Given the description of an element on the screen output the (x, y) to click on. 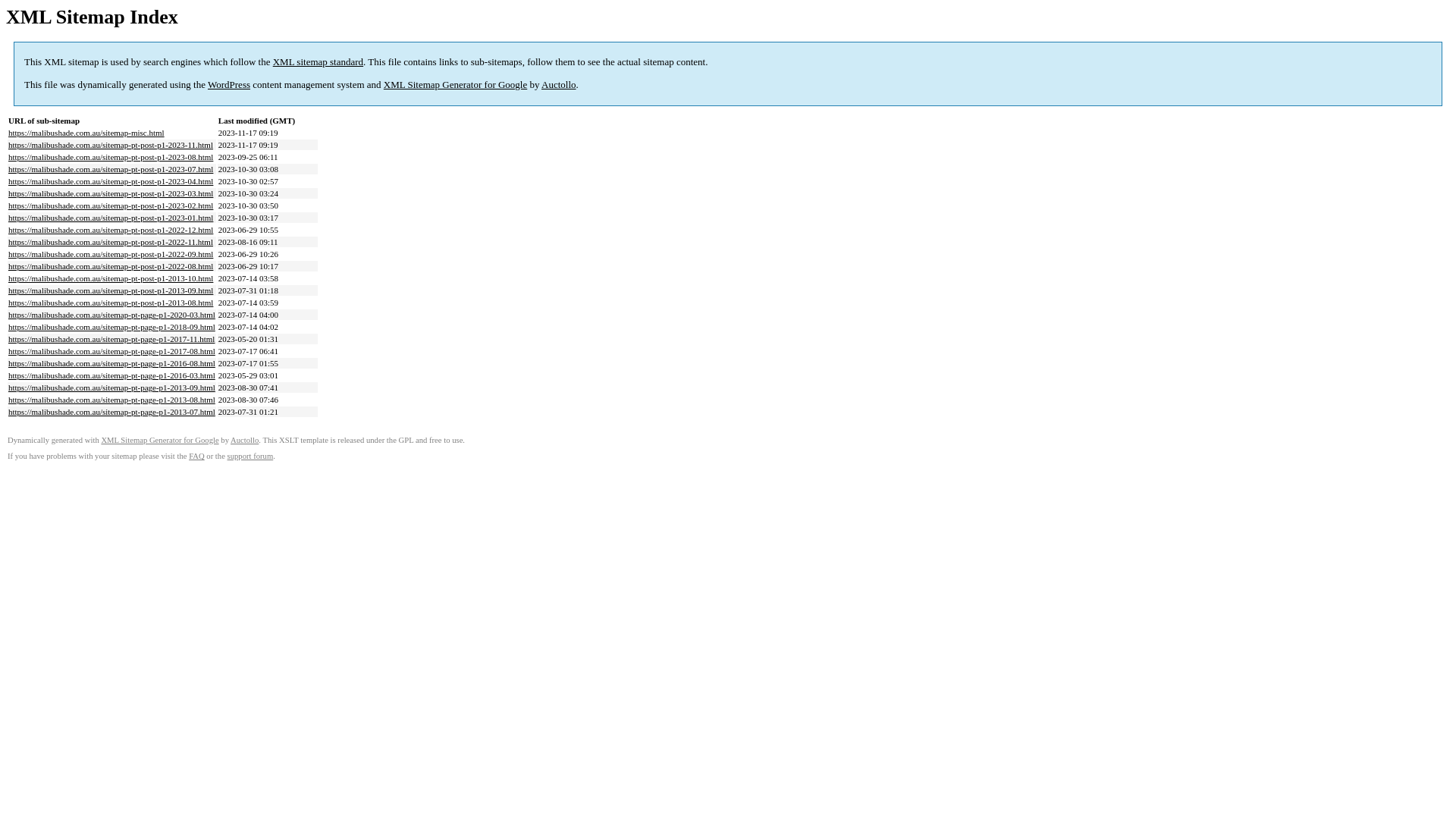
https://malibushade.com.au/sitemap-pt-post-p1-2022-12.html Element type: text (110, 229)
XML Sitemap Generator for Google Element type: text (455, 84)
https://malibushade.com.au/sitemap-pt-page-p1-2018-09.html Element type: text (111, 326)
https://malibushade.com.au/sitemap-pt-page-p1-2017-11.html Element type: text (111, 338)
https://malibushade.com.au/sitemap-pt-post-p1-2023-11.html Element type: text (110, 144)
XML Sitemap Generator for Google Element type: text (159, 440)
Auctollo Element type: text (558, 84)
Auctollo Element type: text (244, 440)
https://malibushade.com.au/sitemap-pt-page-p1-2013-09.html Element type: text (111, 387)
https://malibushade.com.au/sitemap-pt-post-p1-2022-11.html Element type: text (110, 241)
https://malibushade.com.au/sitemap-pt-post-p1-2022-08.html Element type: text (110, 265)
https://malibushade.com.au/sitemap-misc.html Element type: text (86, 132)
support forum Element type: text (250, 455)
https://malibushade.com.au/sitemap-pt-post-p1-2023-08.html Element type: text (110, 156)
https://malibushade.com.au/sitemap-pt-page-p1-2016-08.html Element type: text (111, 362)
https://malibushade.com.au/sitemap-pt-page-p1-2016-03.html Element type: text (111, 374)
https://malibushade.com.au/sitemap-pt-page-p1-2020-03.html Element type: text (111, 314)
https://malibushade.com.au/sitemap-pt-page-p1-2013-08.html Element type: text (111, 399)
https://malibushade.com.au/sitemap-pt-page-p1-2013-07.html Element type: text (111, 411)
https://malibushade.com.au/sitemap-pt-post-p1-2023-07.html Element type: text (110, 168)
https://malibushade.com.au/sitemap-pt-post-p1-2013-09.html Element type: text (110, 289)
FAQ Element type: text (196, 455)
XML sitemap standard Element type: text (318, 61)
https://malibushade.com.au/sitemap-pt-page-p1-2017-08.html Element type: text (111, 350)
https://malibushade.com.au/sitemap-pt-post-p1-2022-09.html Element type: text (110, 253)
https://malibushade.com.au/sitemap-pt-post-p1-2023-02.html Element type: text (110, 205)
https://malibushade.com.au/sitemap-pt-post-p1-2013-08.html Element type: text (110, 302)
https://malibushade.com.au/sitemap-pt-post-p1-2013-10.html Element type: text (110, 277)
https://malibushade.com.au/sitemap-pt-post-p1-2023-04.html Element type: text (110, 180)
https://malibushade.com.au/sitemap-pt-post-p1-2023-01.html Element type: text (110, 217)
https://malibushade.com.au/sitemap-pt-post-p1-2023-03.html Element type: text (110, 192)
WordPress Element type: text (228, 84)
